Given the description of an element on the screen output the (x, y) to click on. 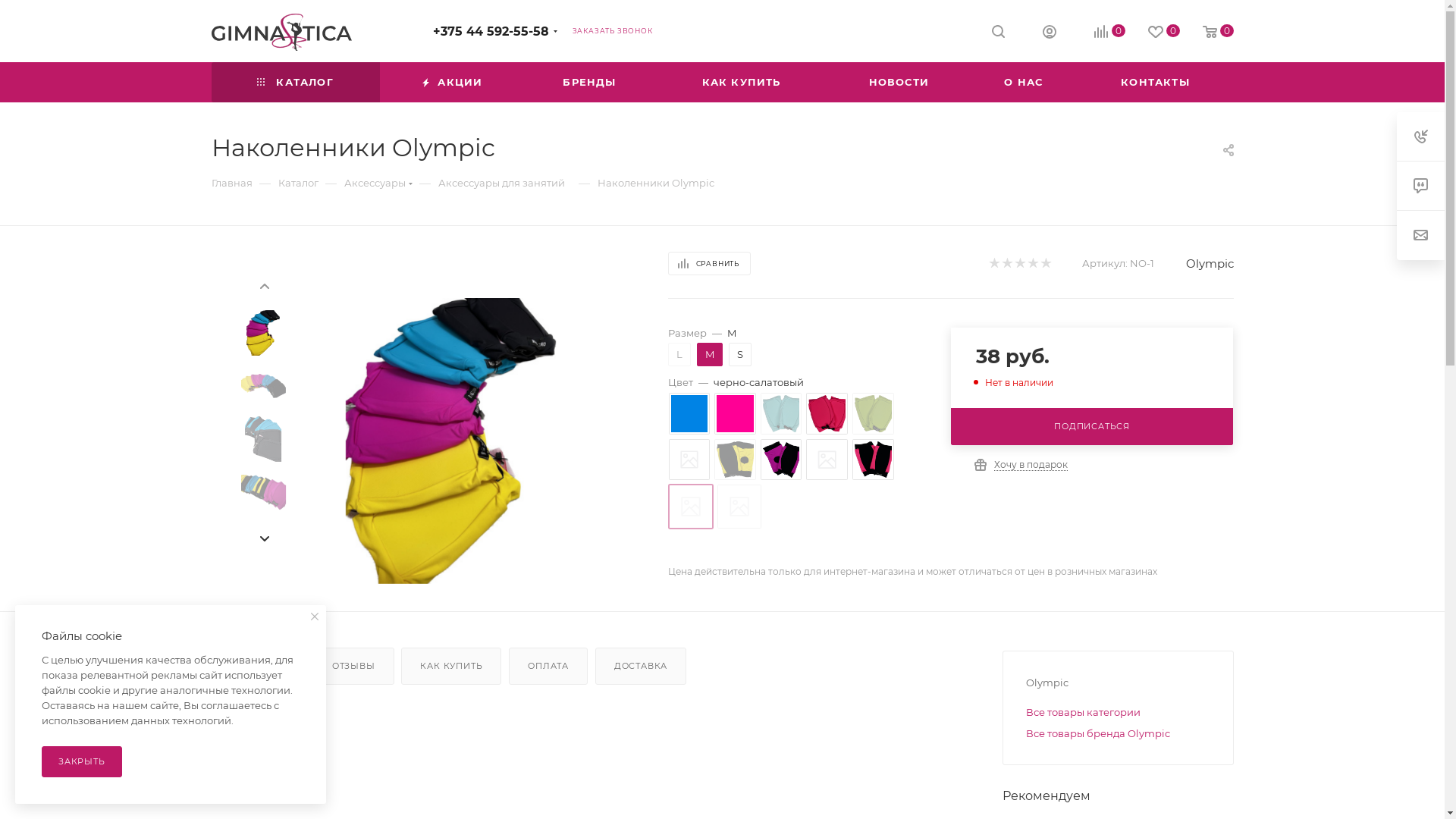
+375 44 592-55-58 Element type: text (490, 31)
0 Element type: text (1097, 31)
Olympic Element type: text (1209, 263)
0 Element type: text (1152, 31)
0 Element type: text (1206, 31)
